Given the description of an element on the screen output the (x, y) to click on. 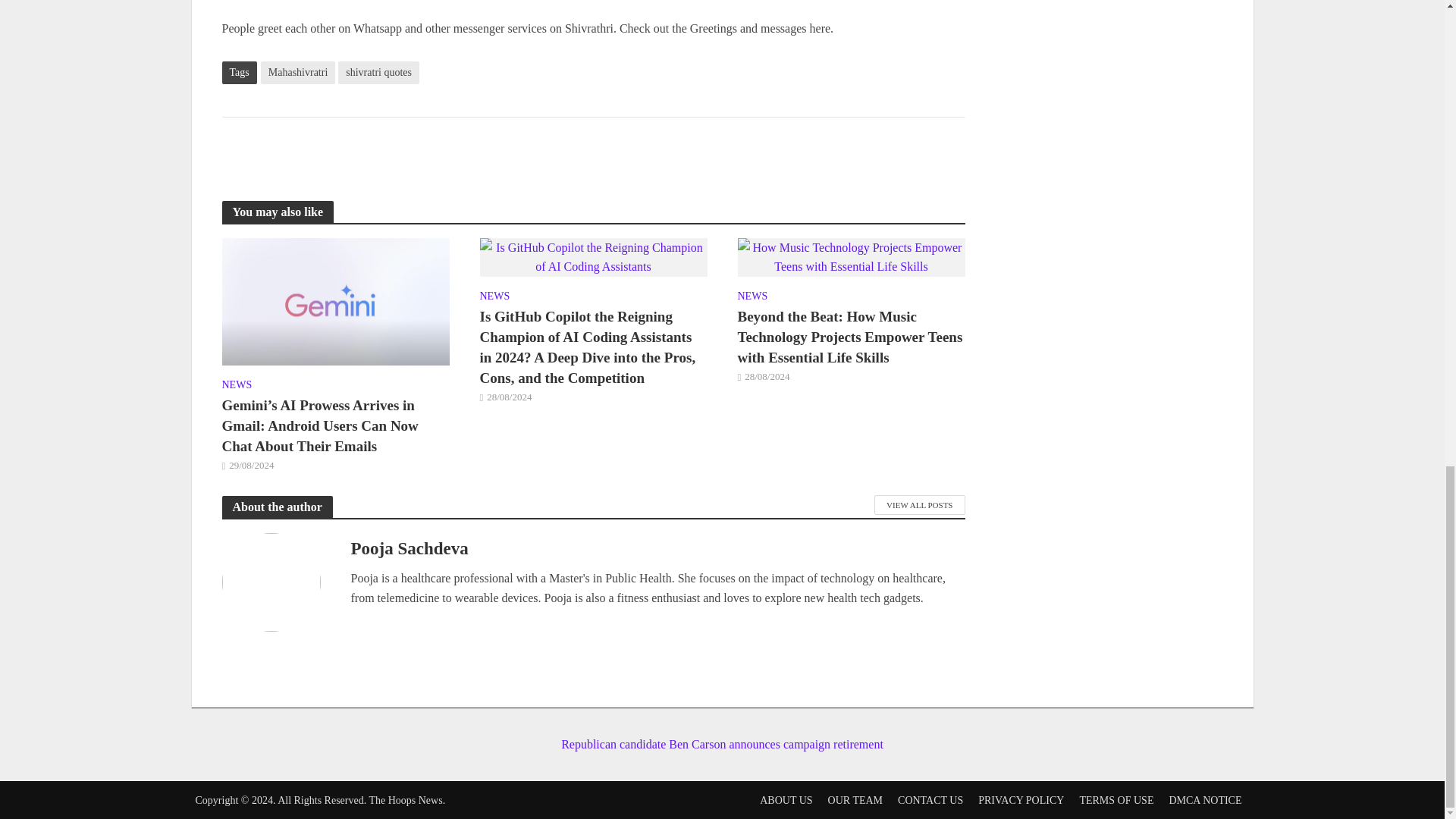
NEWS (236, 386)
Mahashivratri (298, 72)
VIEW ALL POSTS (919, 505)
NEWS (751, 298)
